Given the description of an element on the screen output the (x, y) to click on. 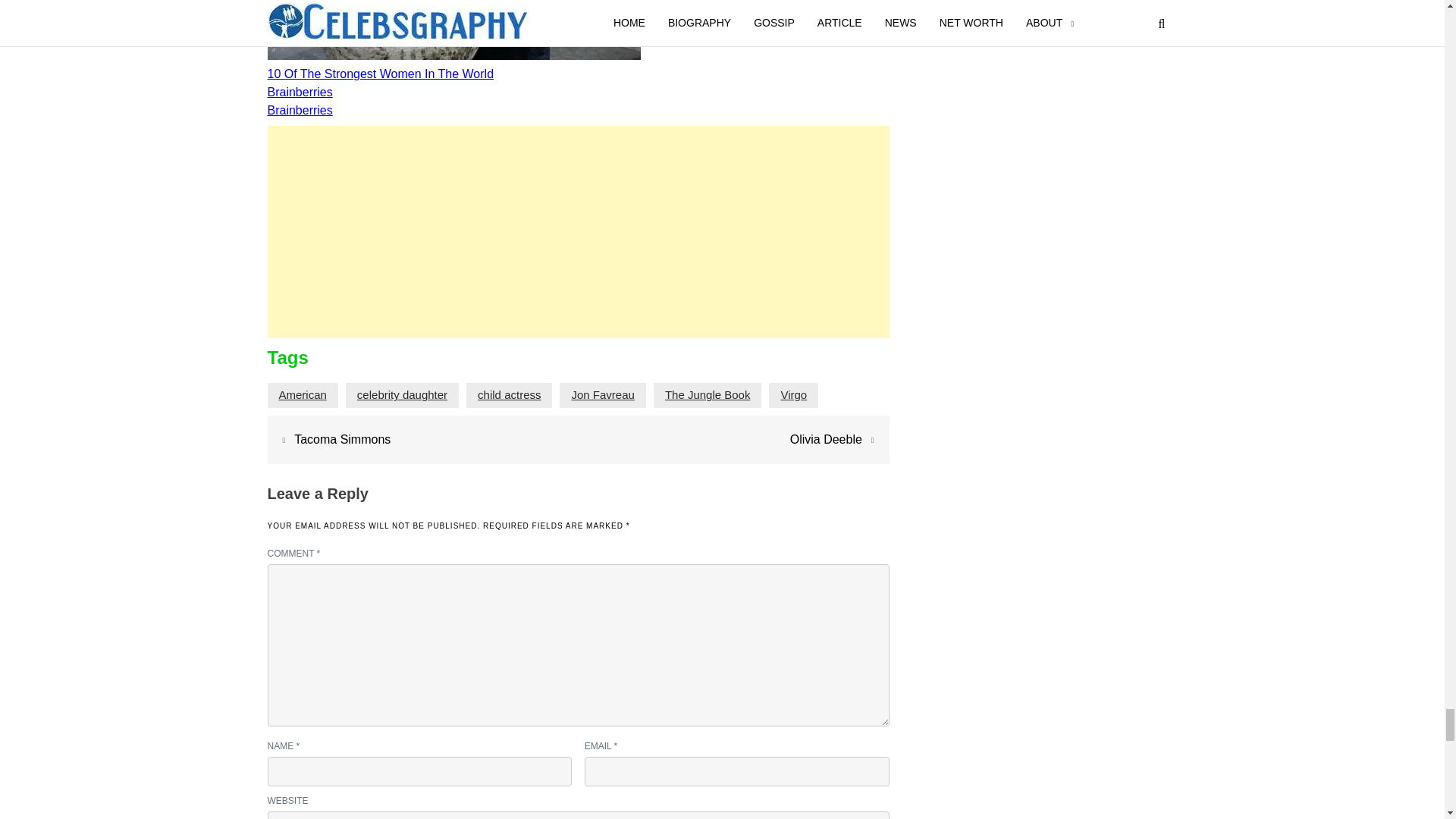
The Jungle Book (708, 394)
child actress (508, 394)
Jon Favreau (601, 394)
American (302, 394)
celebrity daughter (401, 394)
